Given the description of an element on the screen output the (x, y) to click on. 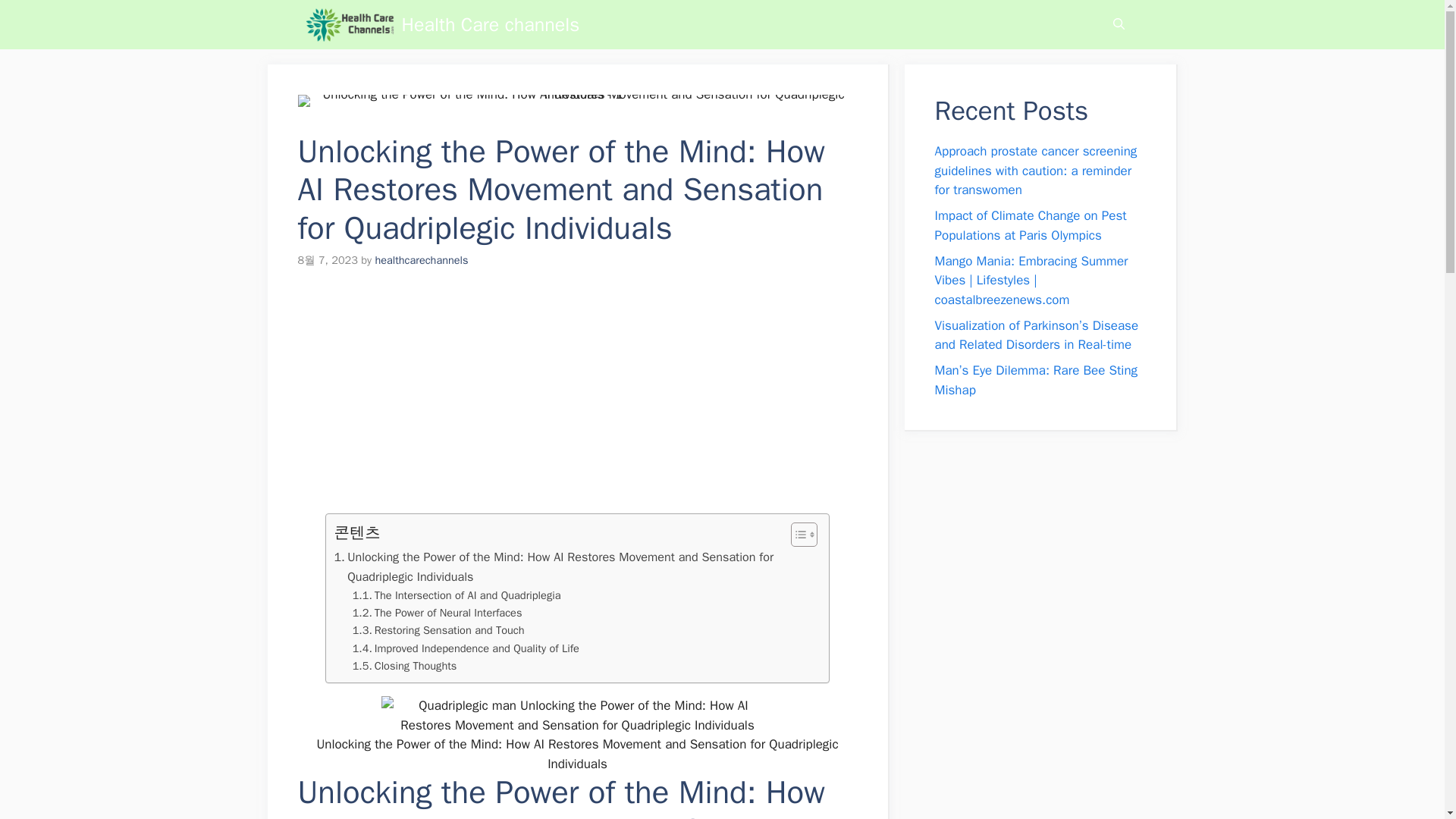
View all posts by healthcarechannels (420, 259)
Health Care channels (348, 24)
Improved Independence and Quality of Life (465, 648)
Advertisement (569, 400)
The Intersection of AI and Quadriplegia (456, 595)
Closing Thoughts (404, 665)
